Given the description of an element on the screen output the (x, y) to click on. 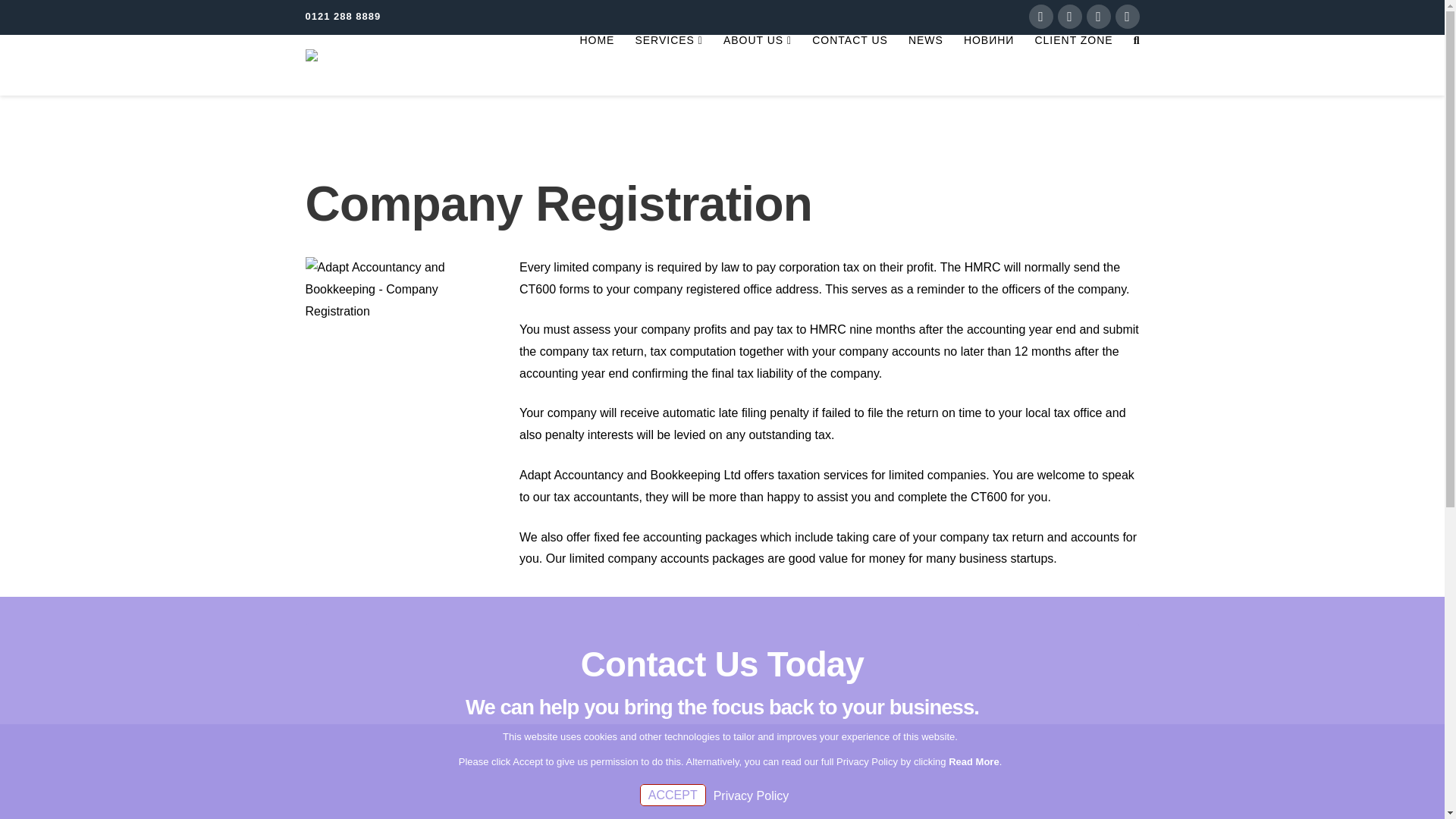
CONTACT US (850, 65)
Adapt Accountancy and Bookkeeping - Company Registration (400, 289)
CLIENT ZONE (1072, 65)
ABOUT US (757, 65)
NEWS (925, 65)
Facebook (1039, 16)
LinkedIn (1097, 16)
RSS (1126, 16)
Twitter (1069, 16)
SERVICES (668, 65)
HOME (596, 65)
0121 288 8889 (342, 16)
